Given the description of an element on the screen output the (x, y) to click on. 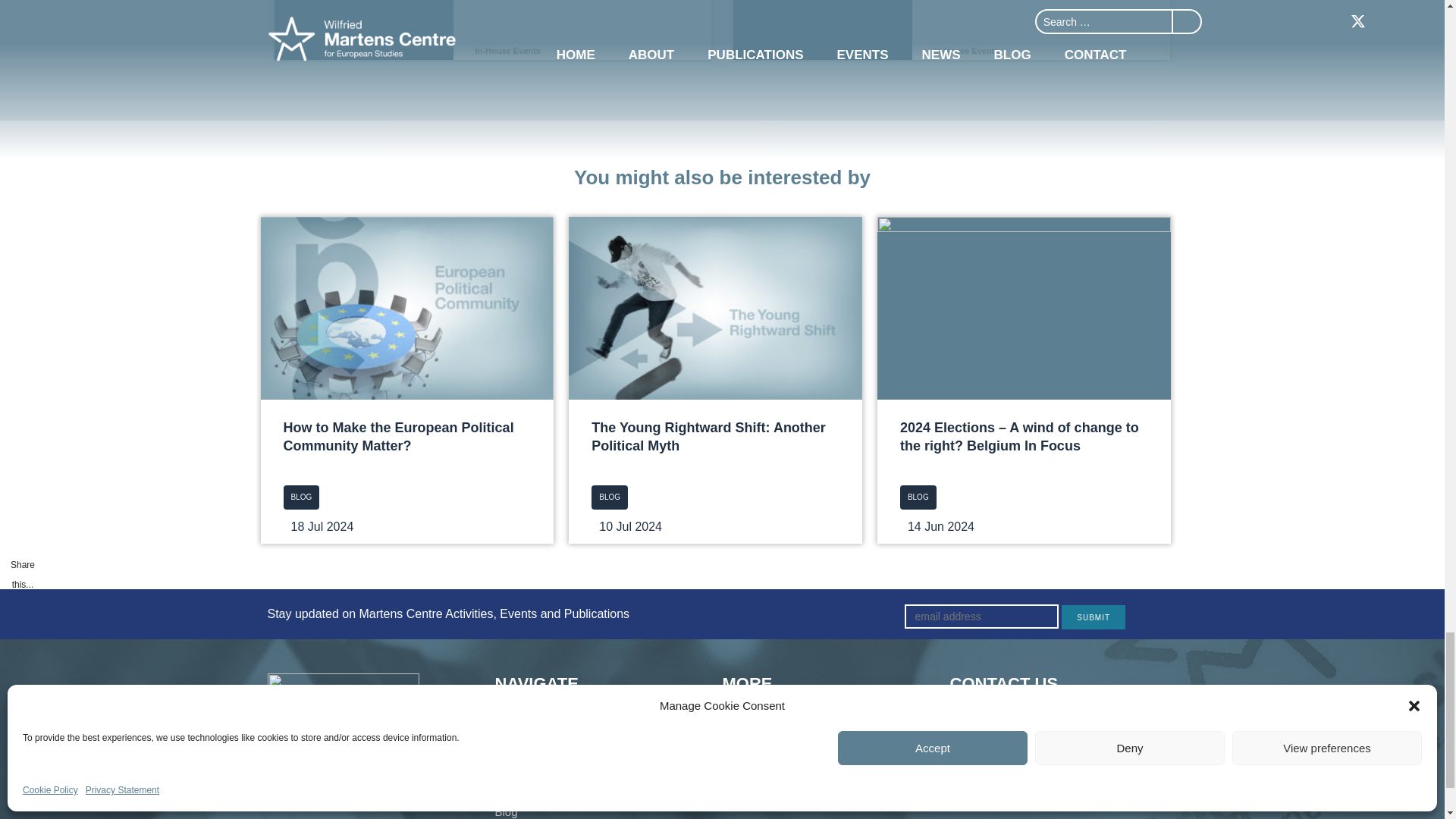
Submit (1093, 617)
